Given the description of an element on the screen output the (x, y) to click on. 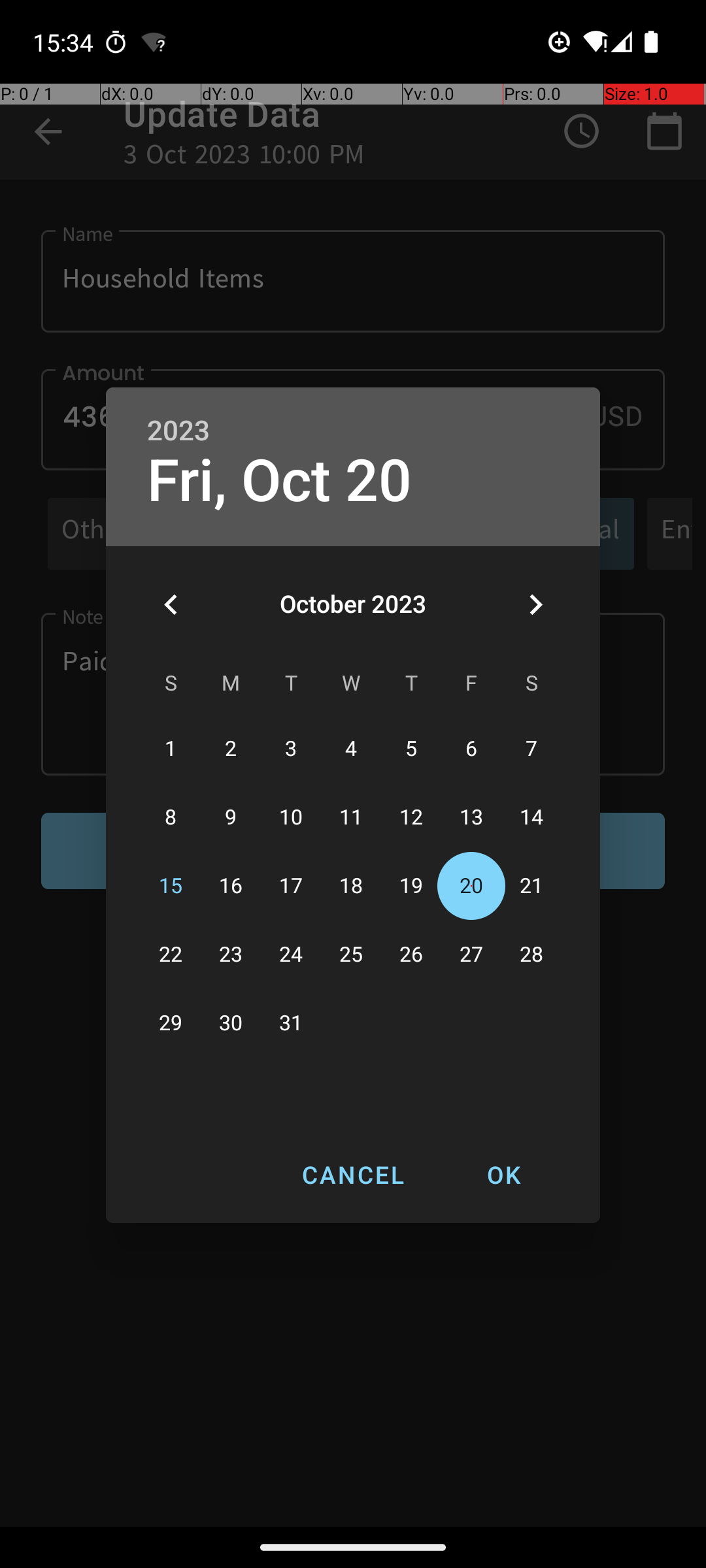
Fri, Oct 20 Element type: android.widget.TextView (279, 480)
